Given the description of an element on the screen output the (x, y) to click on. 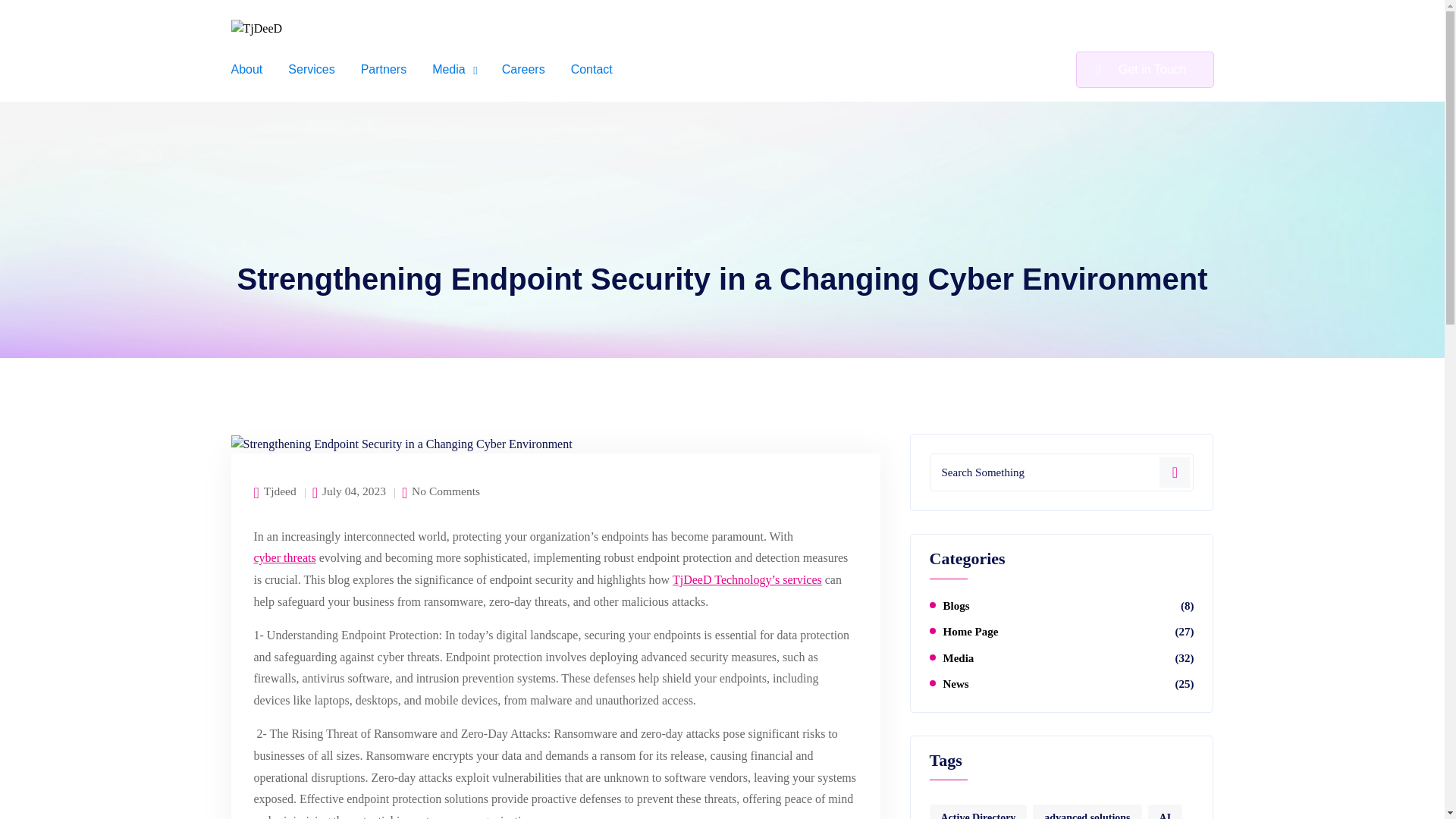
Active Directory (978, 811)
advanced solutions (1086, 811)
Home Page (970, 631)
Get in Touch (1144, 69)
News (956, 684)
Blogs (956, 605)
cyber threats (284, 558)
Media (958, 657)
AI (1165, 811)
Tjdeed (280, 491)
